Given the description of an element on the screen output the (x, y) to click on. 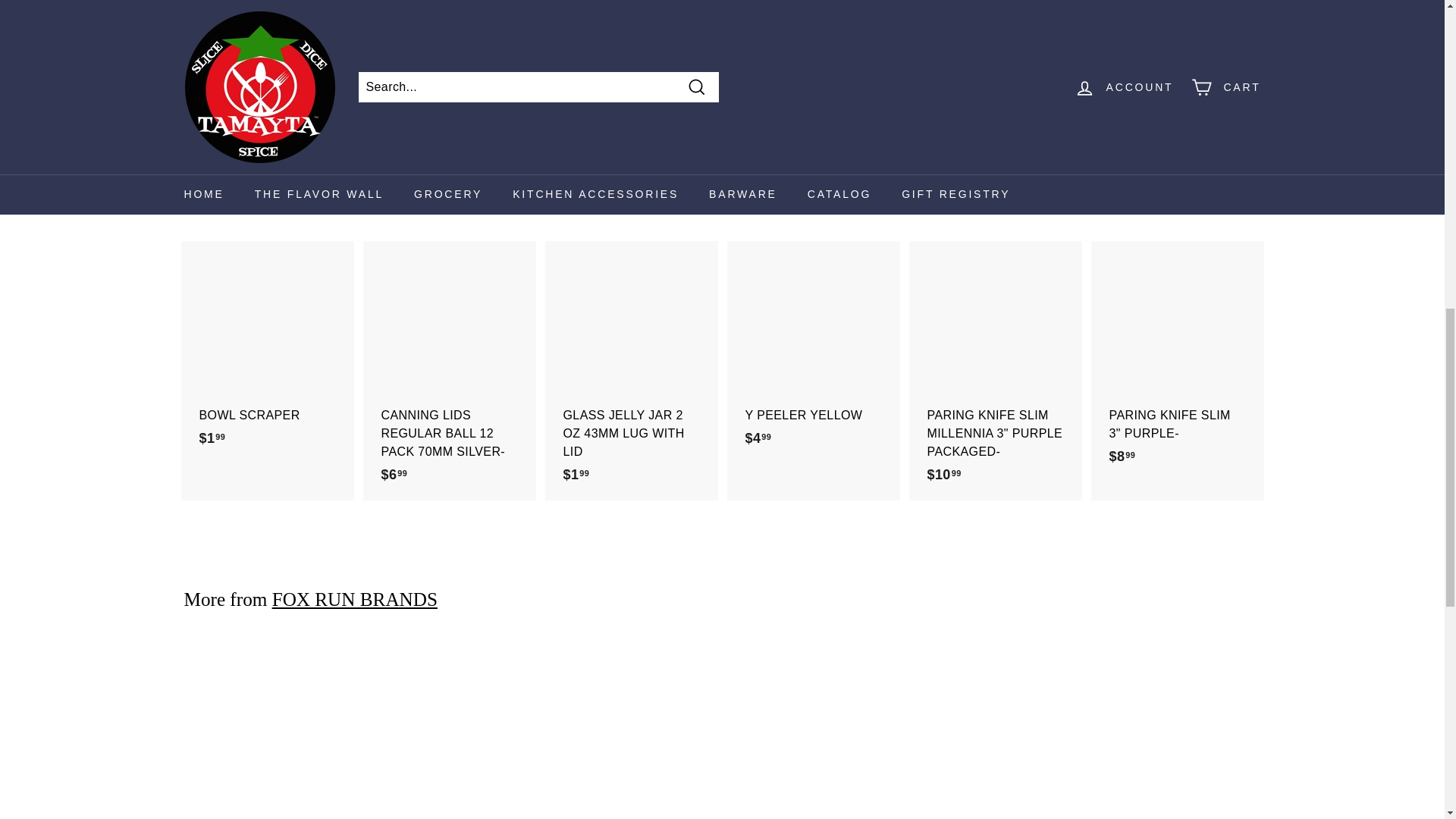
FOX RUN BRANDS (355, 598)
